Given the description of an element on the screen output the (x, y) to click on. 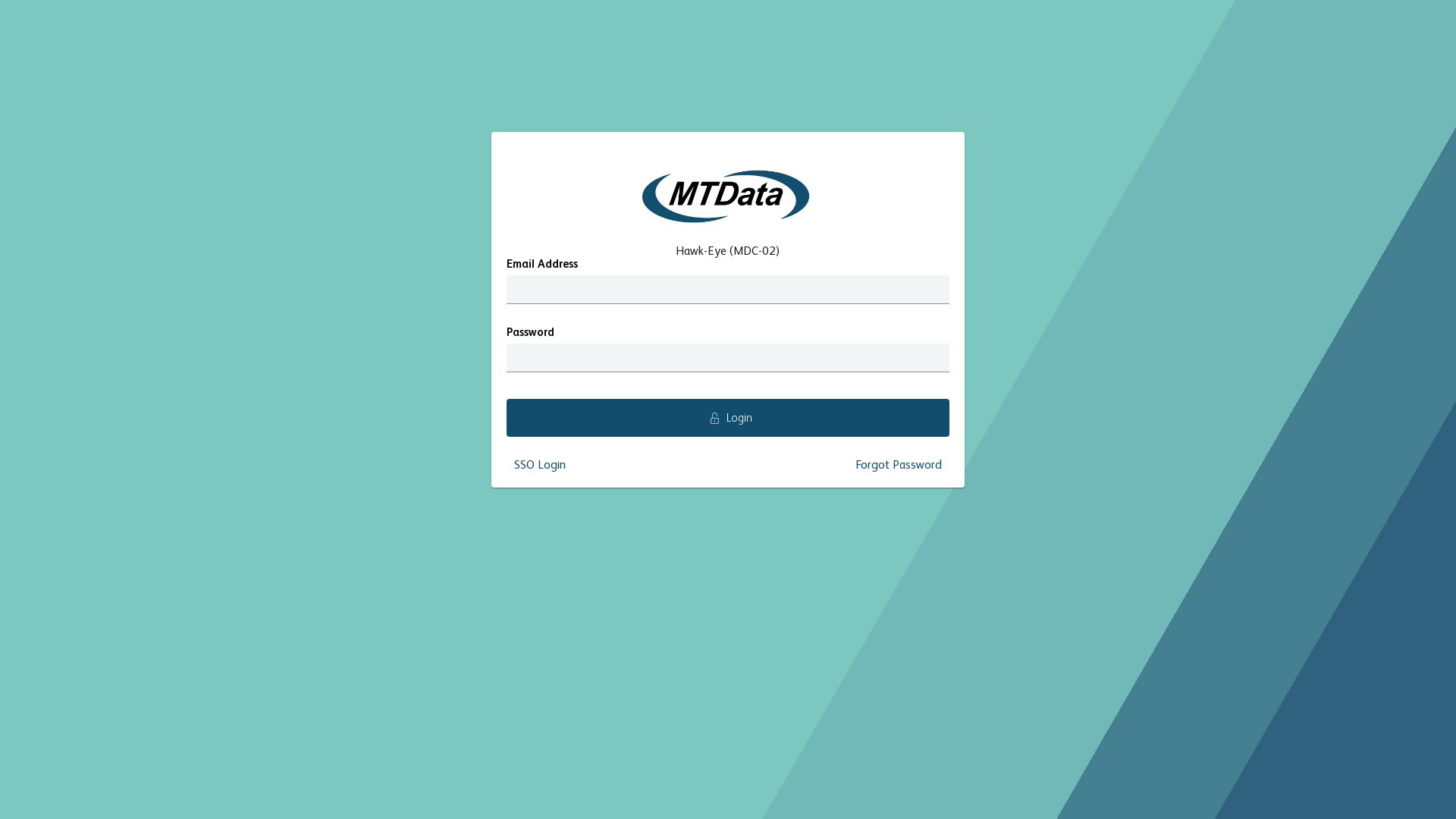
Login Element type: text (727, 417)
Forgot Password Element type: text (898, 465)
SSO Login Element type: text (539, 465)
